Given the description of an element on the screen output the (x, y) to click on. 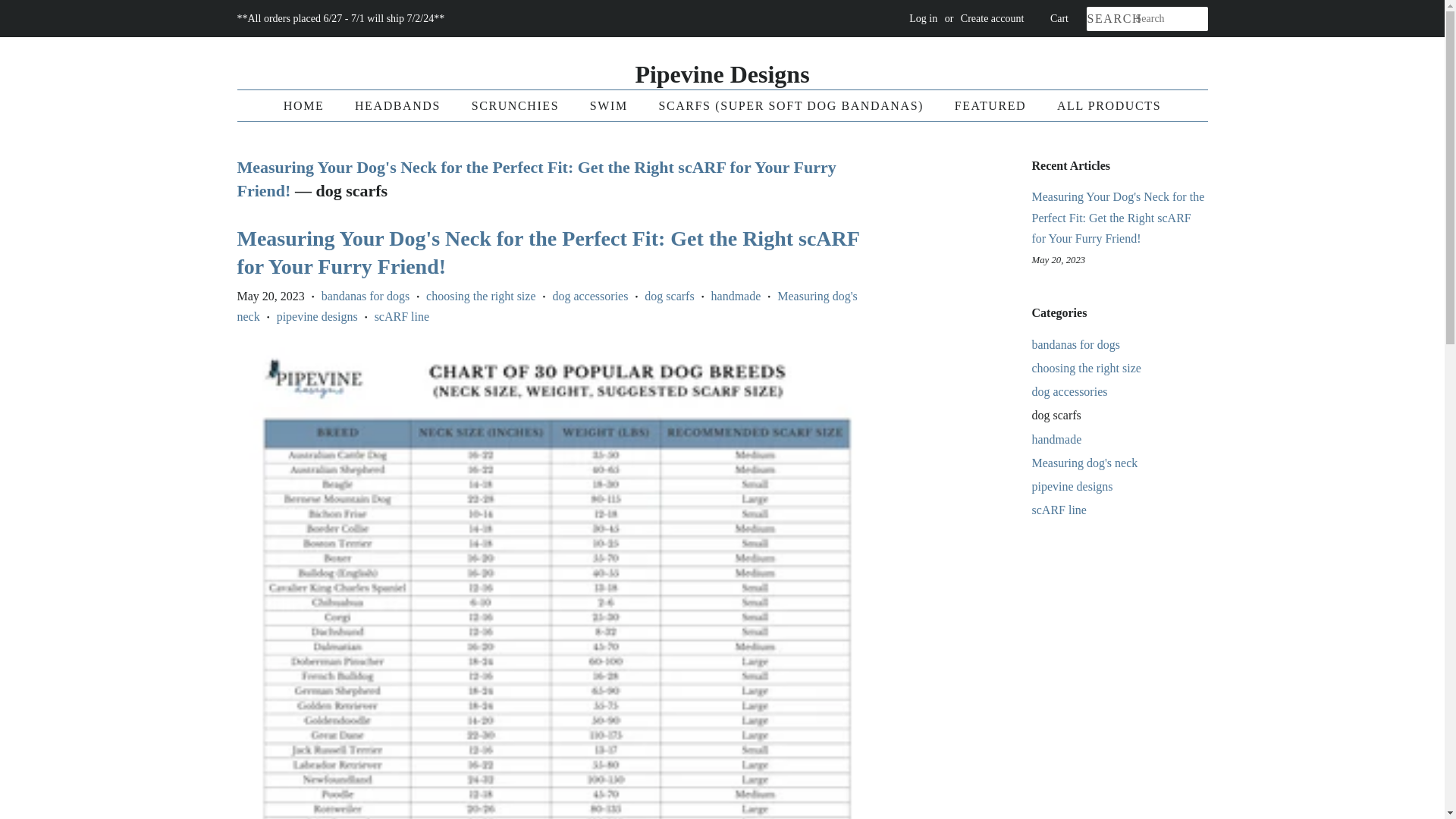
Pipevine Designs (721, 73)
SCRUNCHIES (517, 105)
Show articles tagged pipevine designs (1071, 486)
Log in (922, 18)
SEARCH (1110, 18)
Show articles tagged handmade (1055, 439)
bandanas for dogs (365, 295)
dog accessories (1068, 391)
Show articles tagged bandanas for dogs (1074, 344)
Measuring dog's neck (546, 305)
bandanas for dogs (1074, 344)
dog scarfs (669, 295)
Show articles tagged choosing the right size (1085, 367)
